Given the description of an element on the screen output the (x, y) to click on. 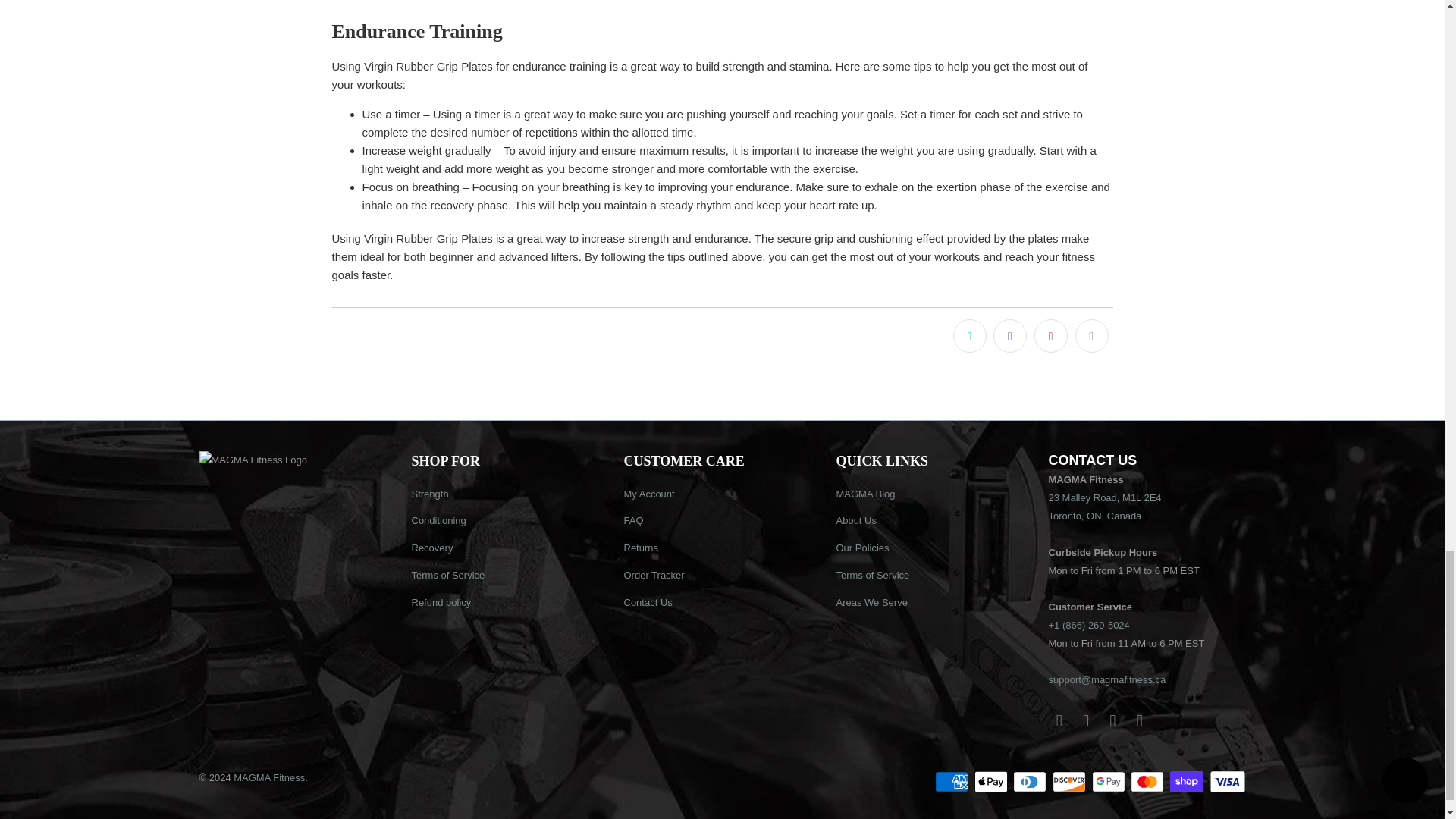
Share this on Pinterest (1050, 335)
Share this on Twitter (970, 335)
Visa (1226, 781)
Shop Pay (1188, 781)
Diners Club (1031, 781)
MAGMA Fitness on YouTube (1086, 720)
Google Pay (1110, 781)
Apple Pay (992, 781)
Mastercard (1149, 781)
Share this on Facebook (1009, 335)
American Express (952, 781)
Discover (1070, 781)
MAGMA Fitness on Facebook (1059, 720)
Email this to a friend (1091, 335)
